Given the description of an element on the screen output the (x, y) to click on. 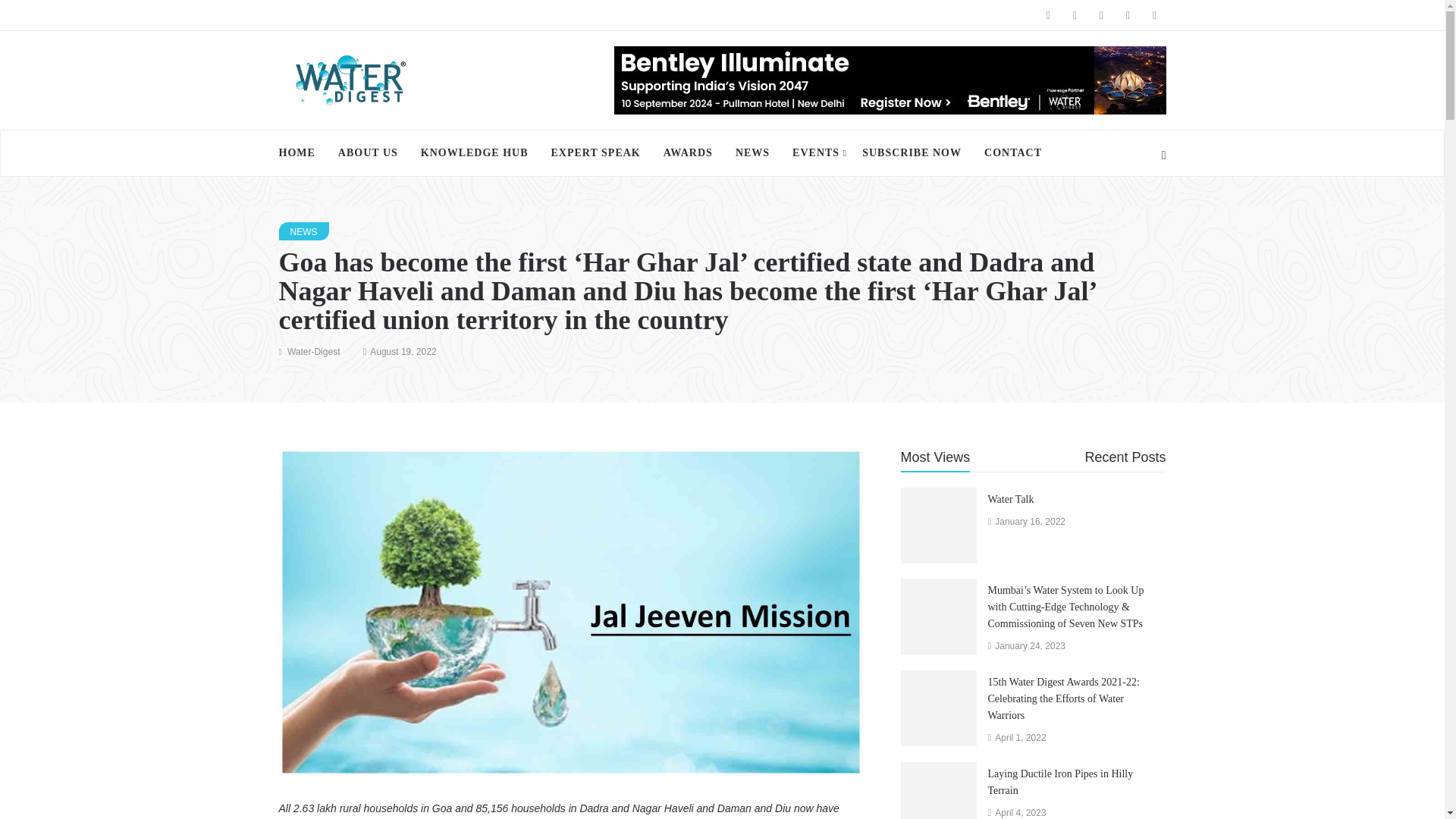
ion-social-twitter (1074, 15)
NEWS (751, 153)
AWARDS (687, 153)
August 19, 2022 (402, 351)
KNOWLEDGE HUB (474, 153)
NEWS (304, 230)
HOME (302, 153)
ion-social-instagram (1101, 15)
ion-social-youtube (1127, 15)
